Given the description of an element on the screen output the (x, y) to click on. 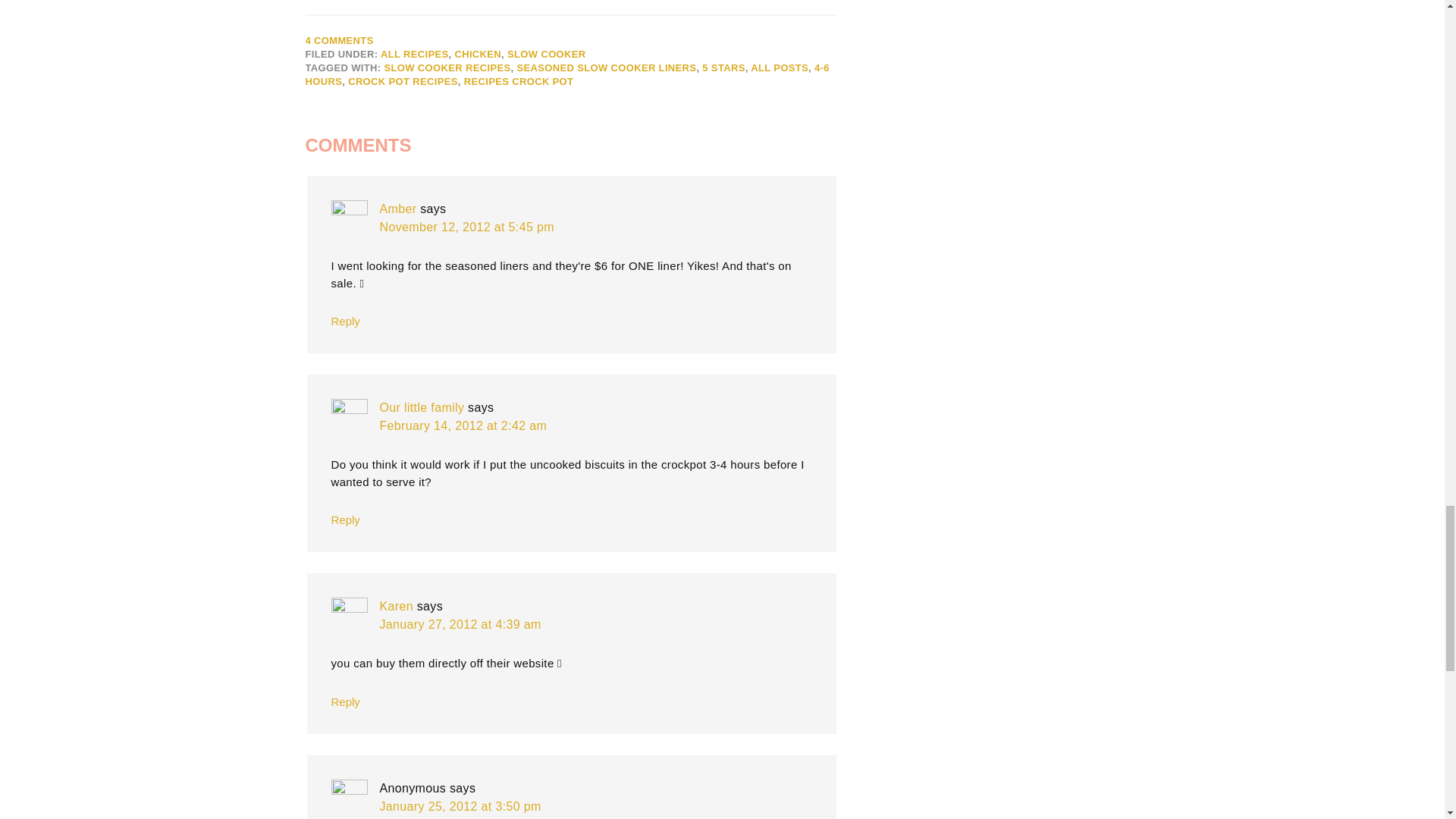
4-6 HOURS (566, 74)
SEASONED SLOW COOKER LINERS (605, 67)
Our little family (421, 407)
RECIPES CROCK POT (518, 81)
SLOW COOKER RECIPES (447, 67)
ALL RECIPES (414, 53)
CROCK POT RECIPES (402, 81)
Amber (397, 208)
February 14, 2012 at 2:42 am (462, 425)
4 COMMENTS (338, 40)
